Given the description of an element on the screen output the (x, y) to click on. 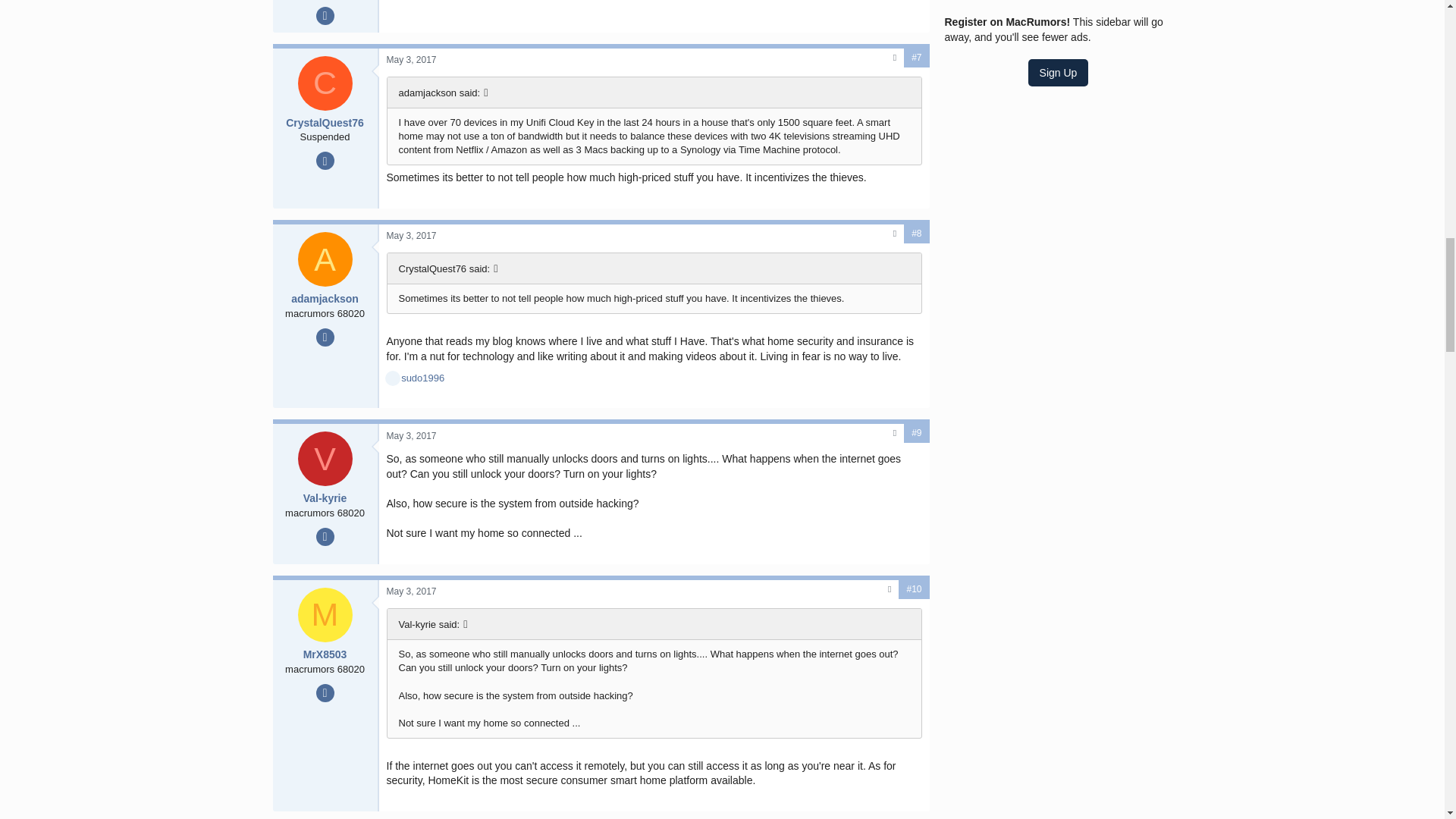
May 3, 2017 at 3:36 PM (411, 235)
May 3, 2017 at 3:03 PM (411, 59)
